Given the description of an element on the screen output the (x, y) to click on. 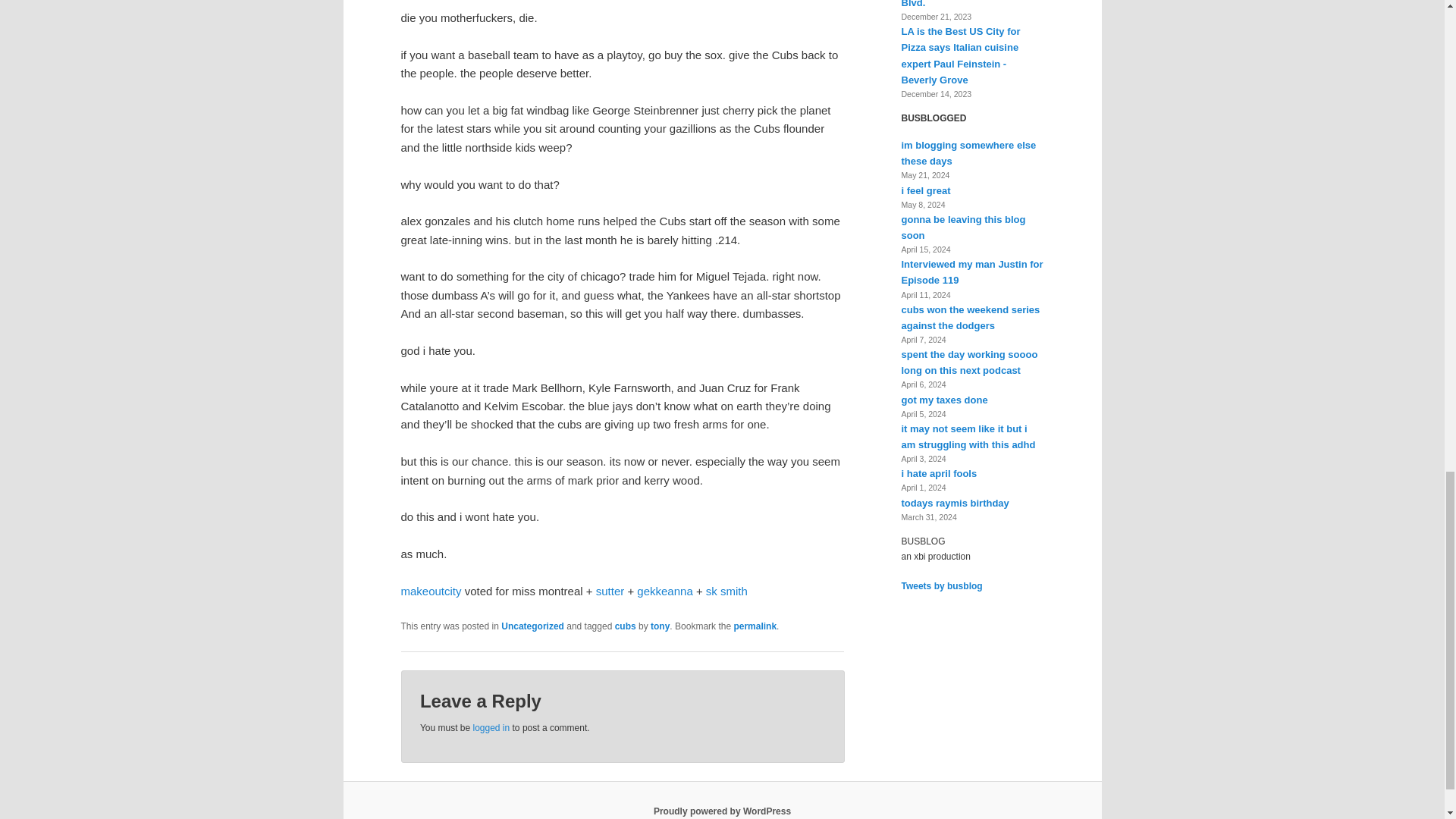
cubs (625, 625)
Semantic Personal Publishing Platform (721, 810)
logged in (490, 727)
makeoutcity (430, 590)
sk smith (727, 590)
tony (659, 625)
Uncategorized (532, 625)
sutter (609, 590)
permalink (754, 625)
gekkeanna (665, 590)
